Given the description of an element on the screen output the (x, y) to click on. 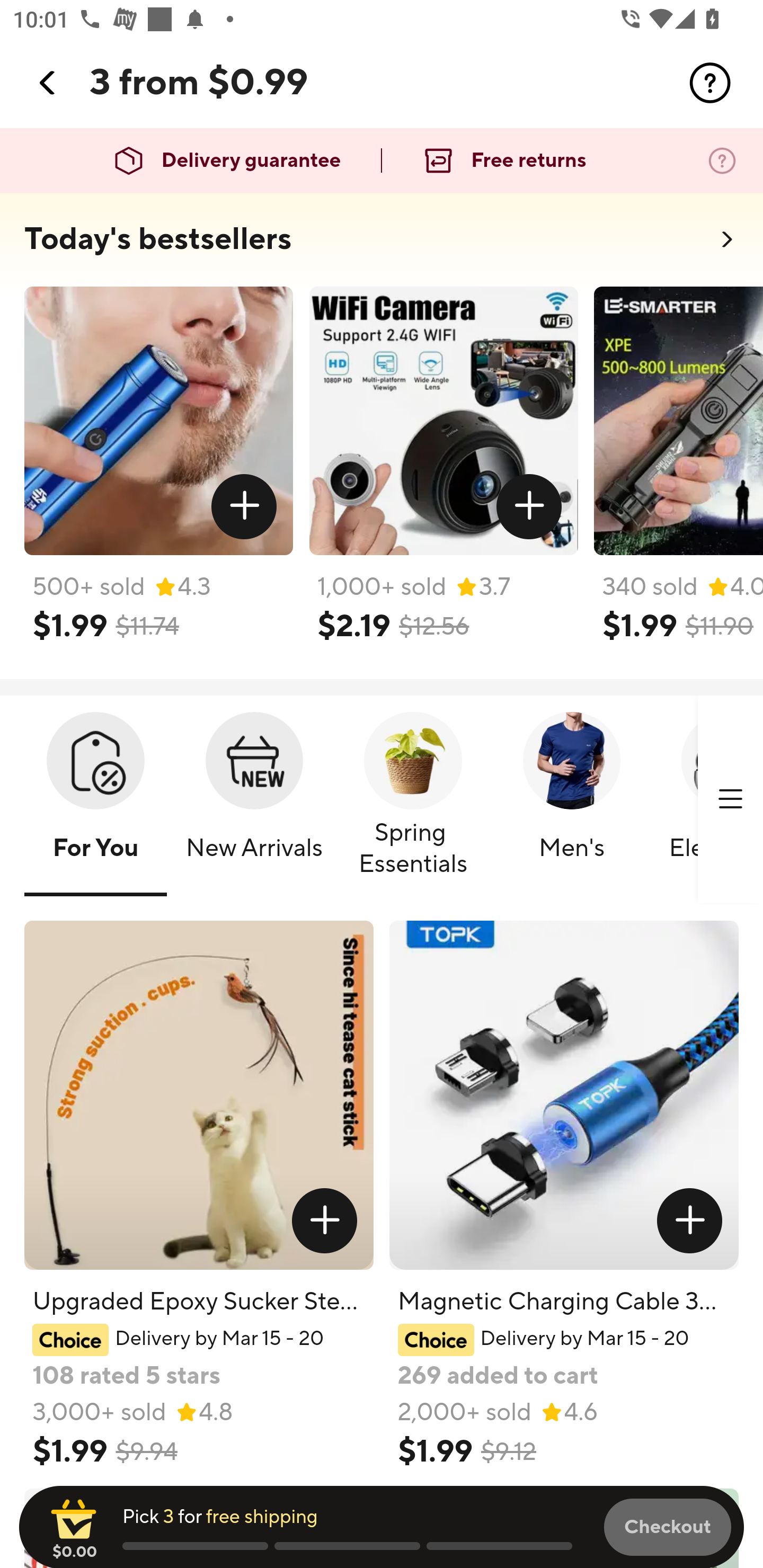
 (710, 82)
 (48, 82)
Today's bestsellers  Today's bestsellers  (381, 244)
 (244, 506)
 (529, 506)
144x144.png_ For You (95, 800)
144x144.png_ New Arrivals (254, 800)
200x200.png_ Spring Essentials (412, 800)
200x200.png_ Men's (571, 800)
 (323, 1220)
 (689, 1220)
